Given the description of an element on the screen output the (x, y) to click on. 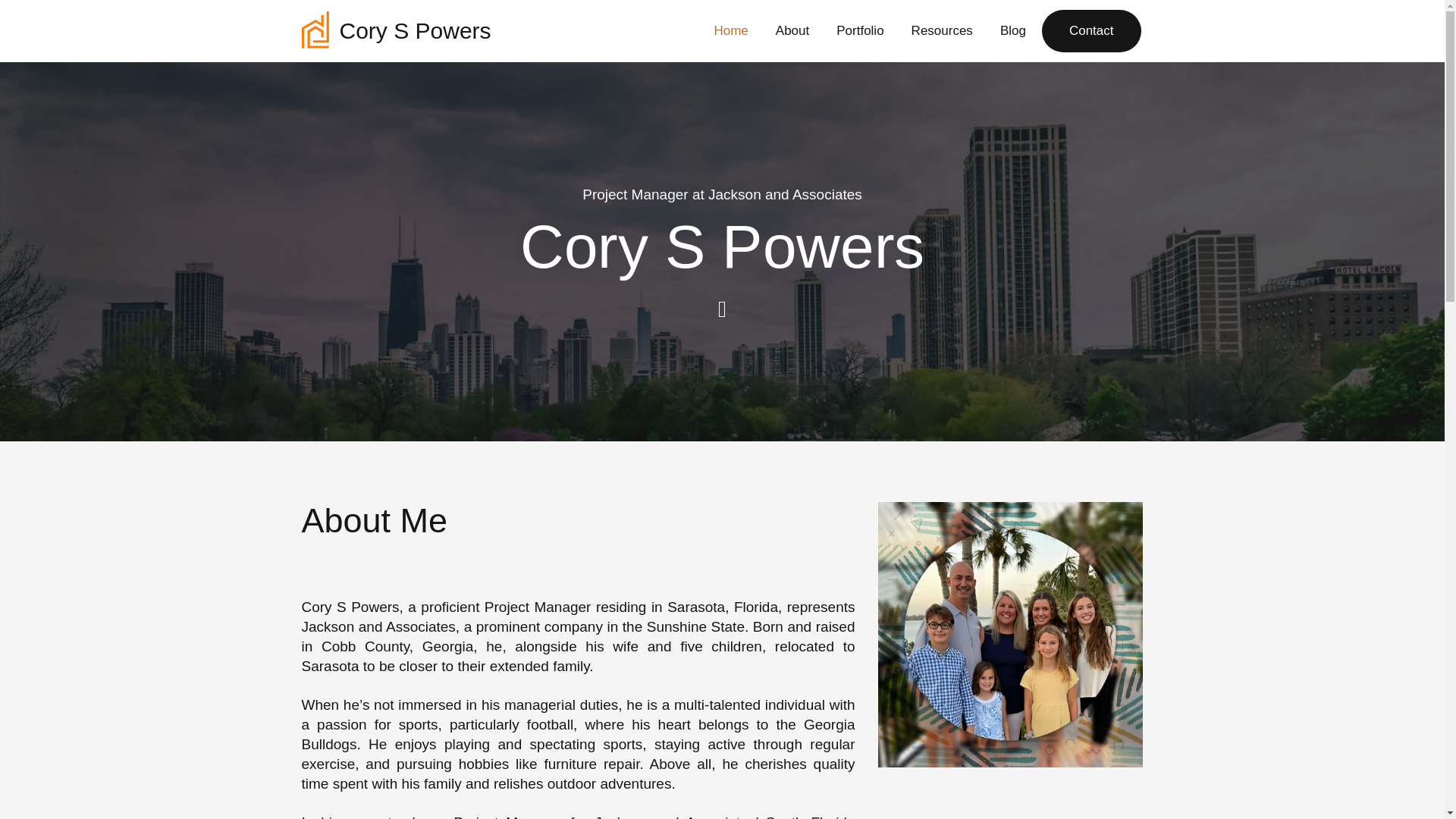
Cory S Powers (396, 30)
Home (729, 30)
Resources (941, 30)
Portfolio (860, 30)
Contact (1091, 30)
About (792, 30)
Blog (1012, 30)
